Given the description of an element on the screen output the (x, y) to click on. 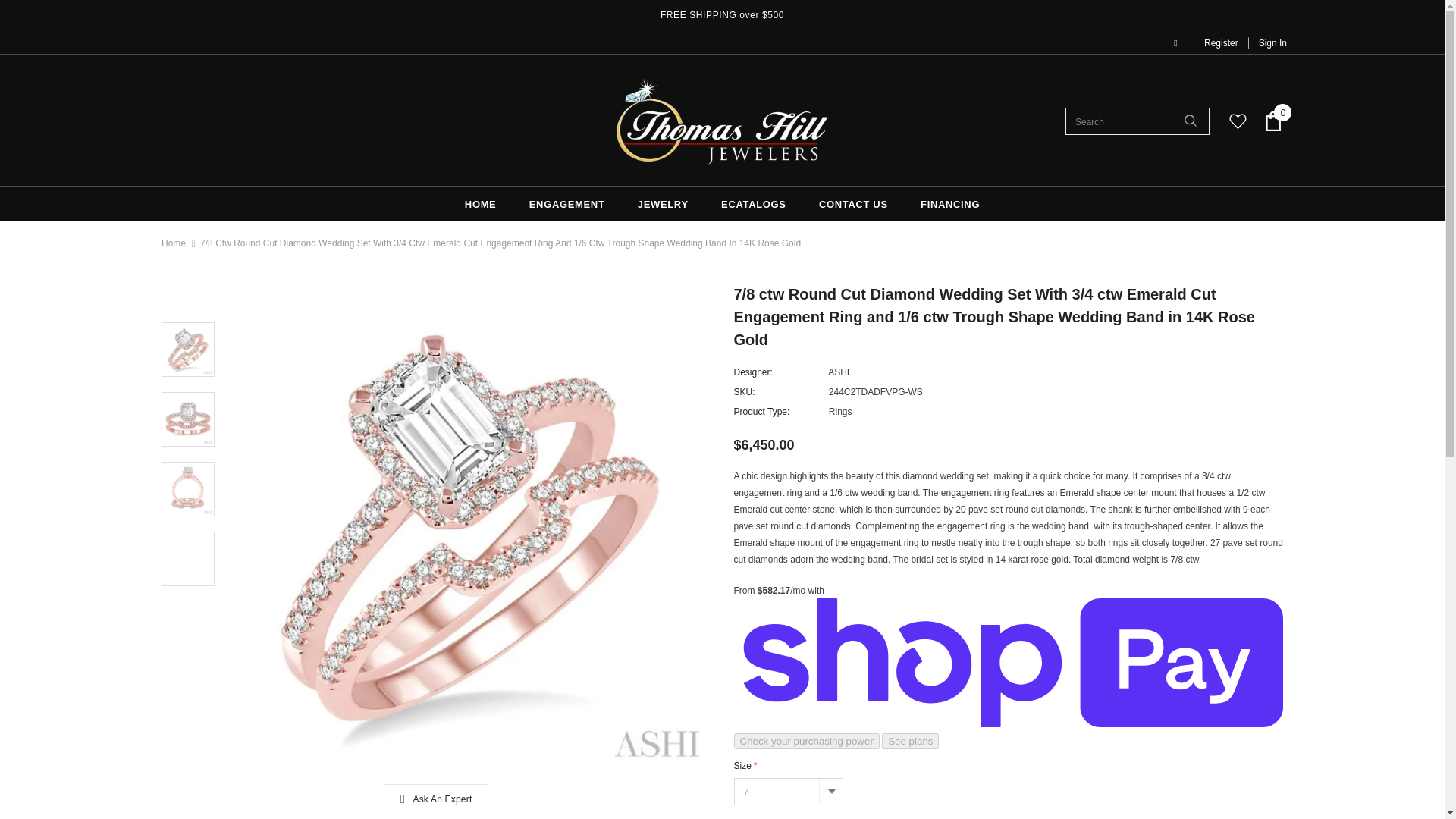
Sign In (1267, 43)
Register (1221, 43)
